Given the description of an element on the screen output the (x, y) to click on. 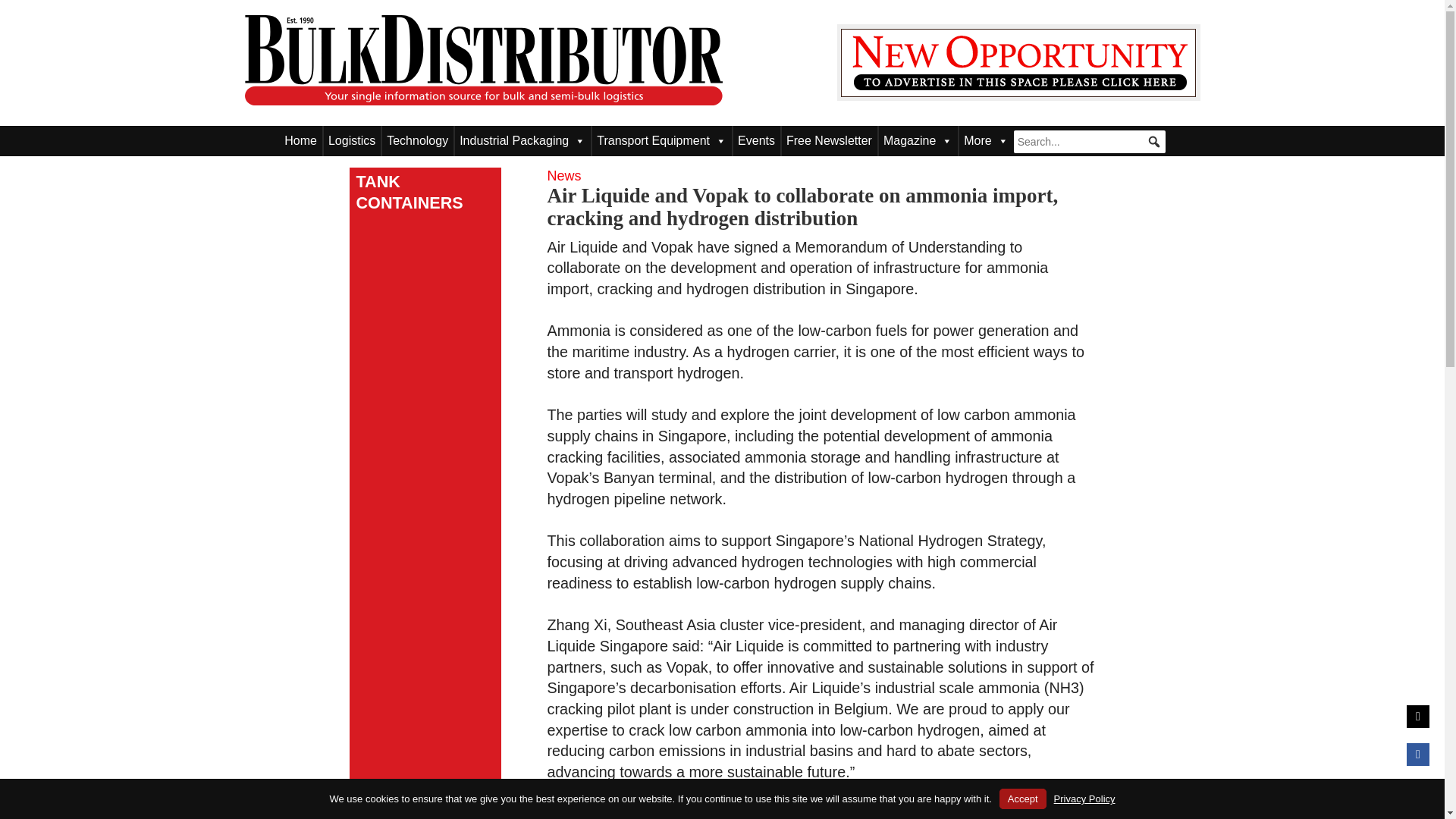
link to Tank Containers section (424, 192)
More (985, 141)
Bulk Distributor (483, 100)
Logistics (351, 141)
Technology (416, 141)
Home (300, 141)
Free Newsletter (828, 141)
Search (22, 8)
Bulk Distributor (483, 60)
Events (756, 141)
